Given the description of an element on the screen output the (x, y) to click on. 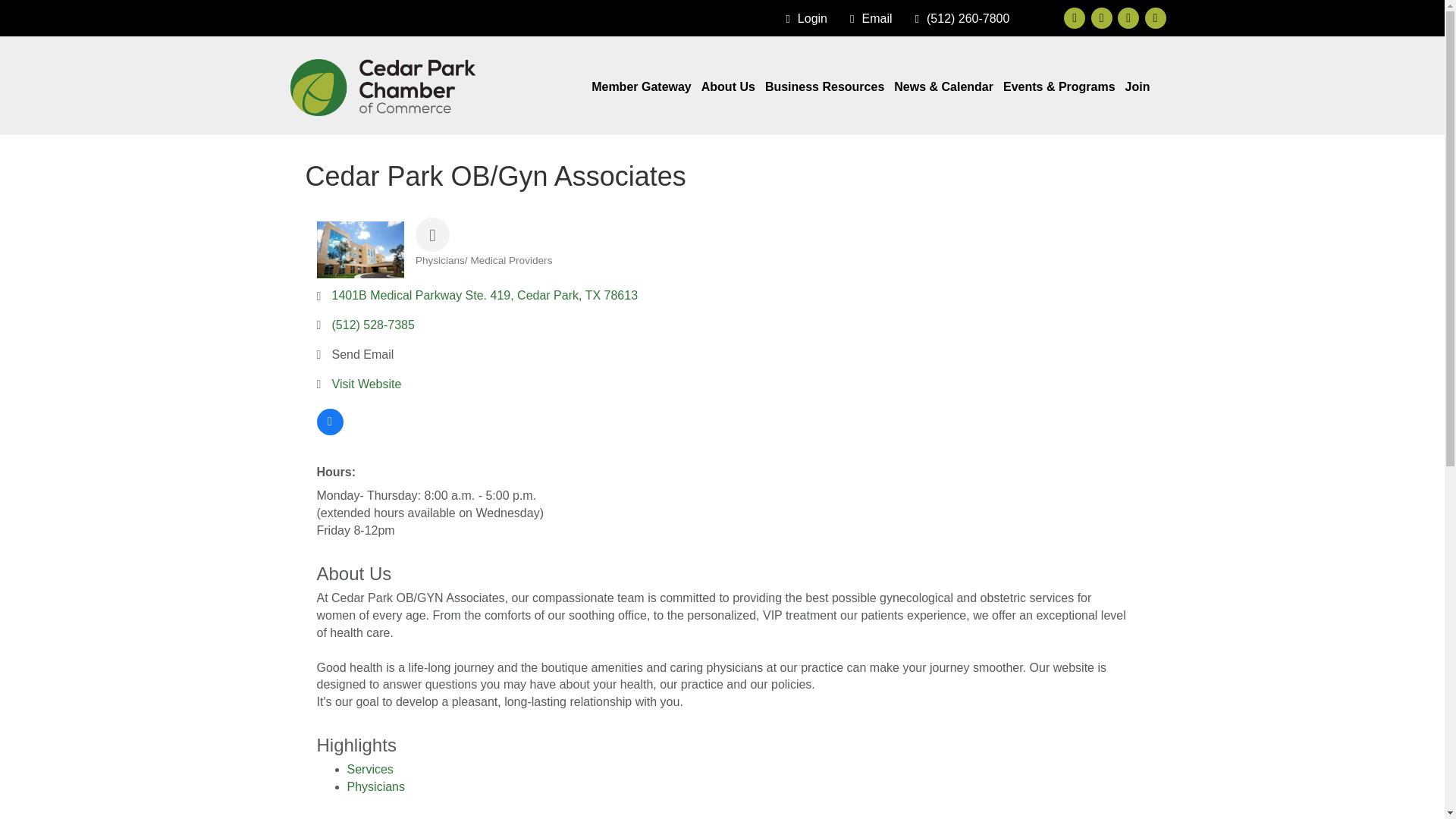
Business Resources (824, 86)
About Us (728, 86)
View on Facebook (330, 431)
Member Gateway (640, 86)
Email (867, 18)
Login (802, 18)
